Given the description of an element on the screen output the (x, y) to click on. 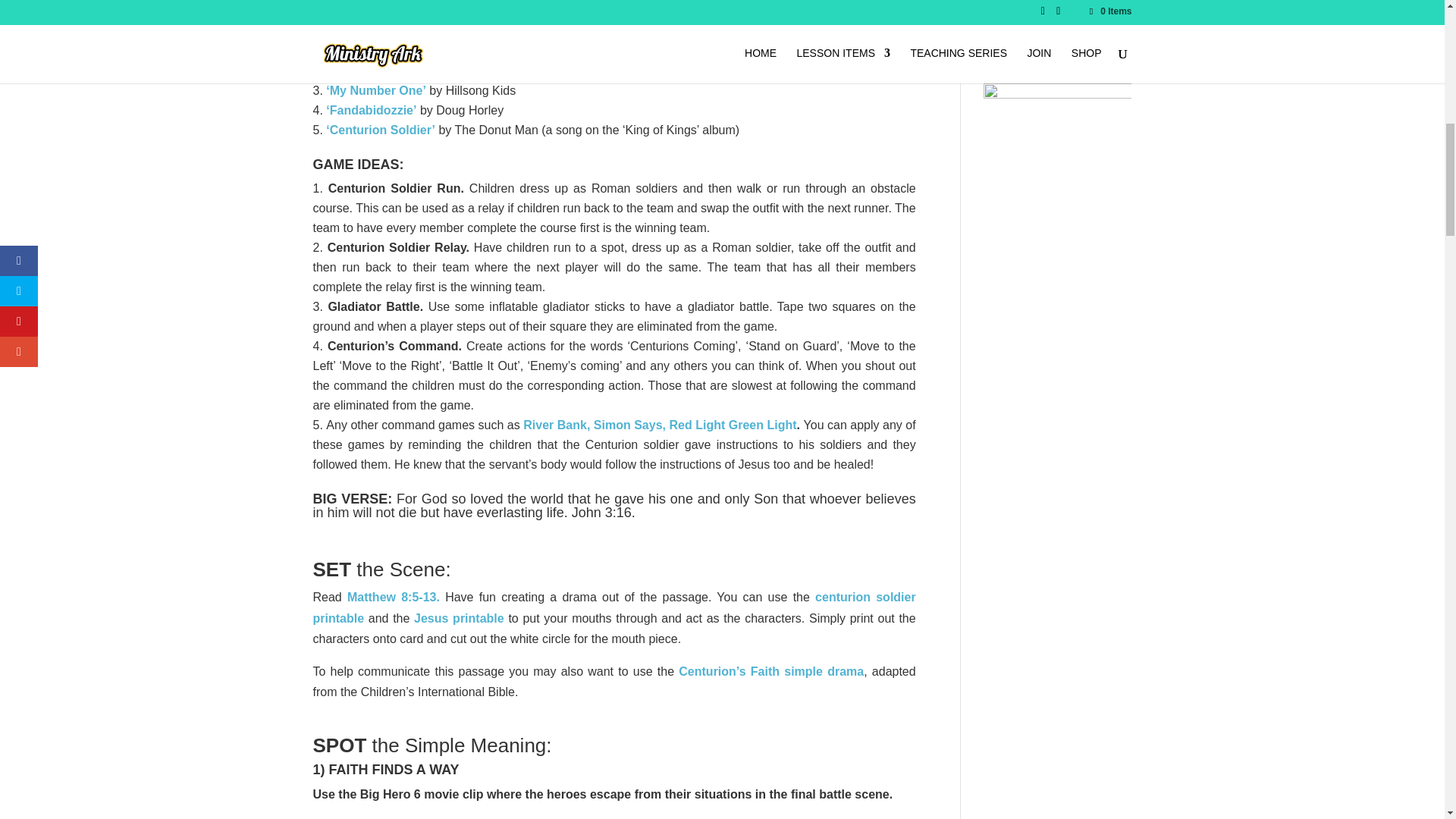
centurion soldier printable (614, 607)
Red Light Green Light (730, 424)
Matthew 8:5-13. (393, 596)
River Bank, (555, 424)
Jesus printable (458, 617)
Simon Says, (629, 424)
